Given the description of an element on the screen output the (x, y) to click on. 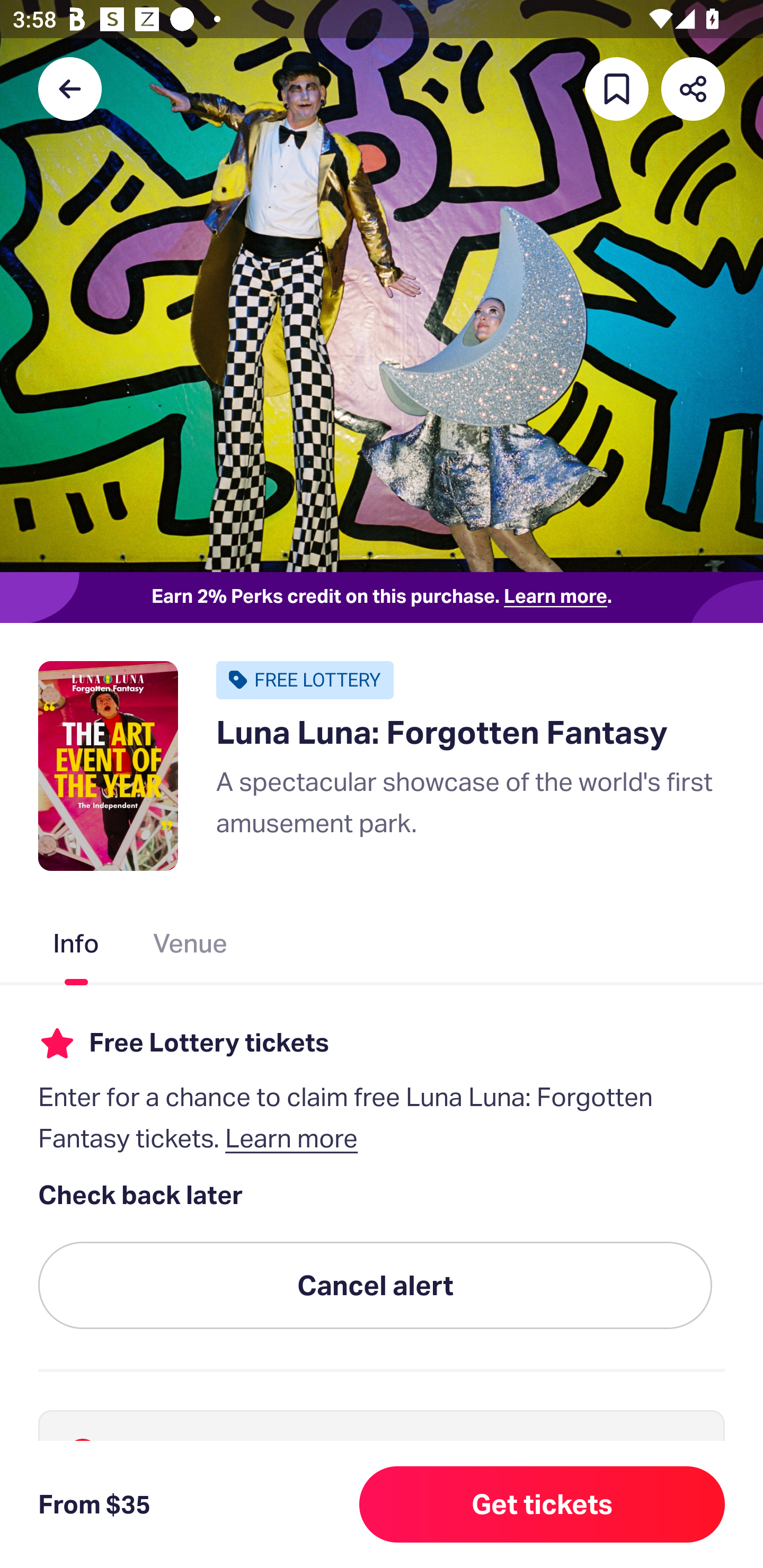
Earn 2% Perks credit on this purchase. Learn more. (381, 597)
Venue (190, 946)
Cancel alert (374, 1286)
Get tickets (541, 1504)
